Given the description of an element on the screen output the (x, y) to click on. 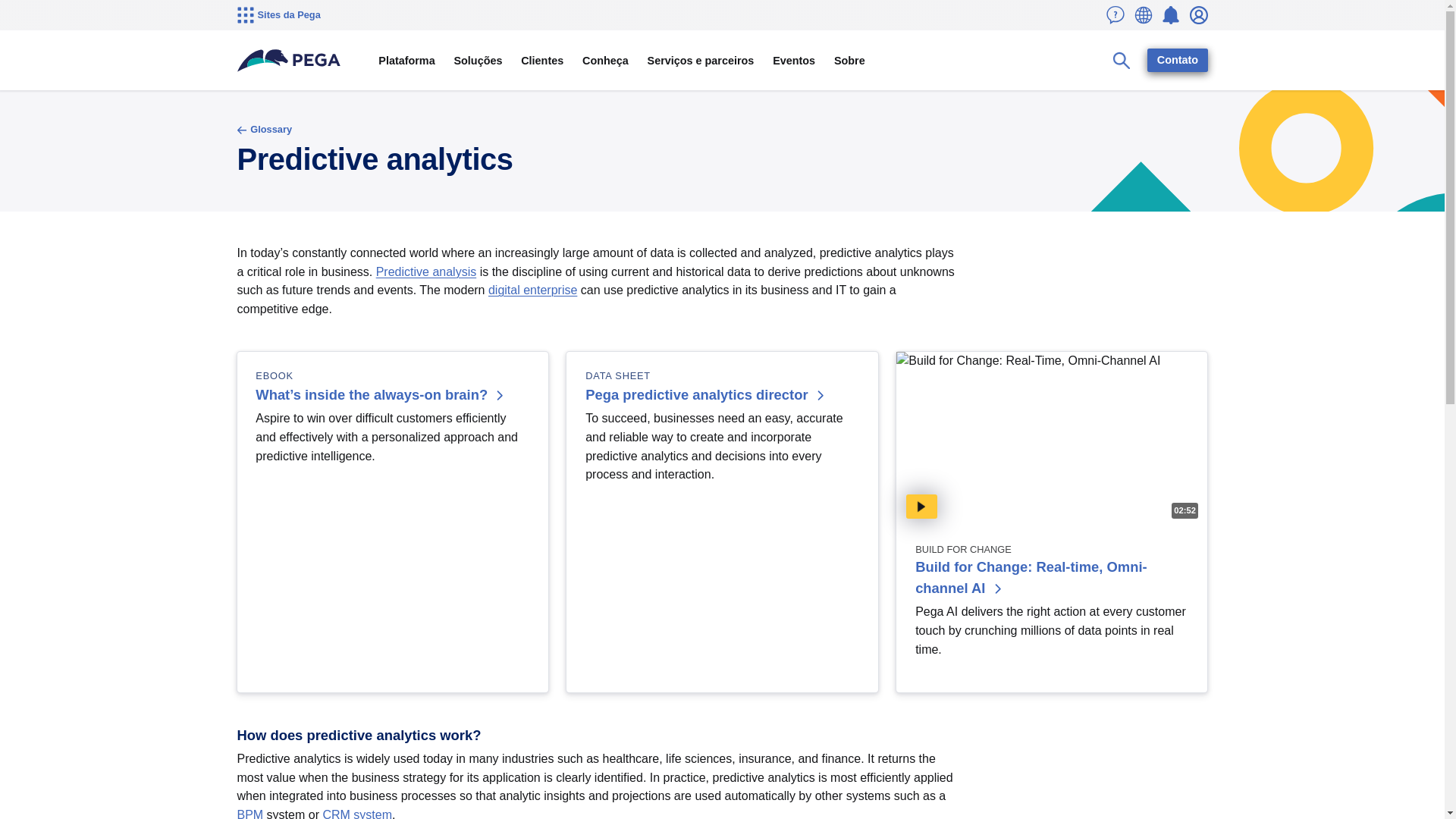
Toggle Search Panel (1121, 60)
Plataforma (406, 60)
